Given the description of an element on the screen output the (x, y) to click on. 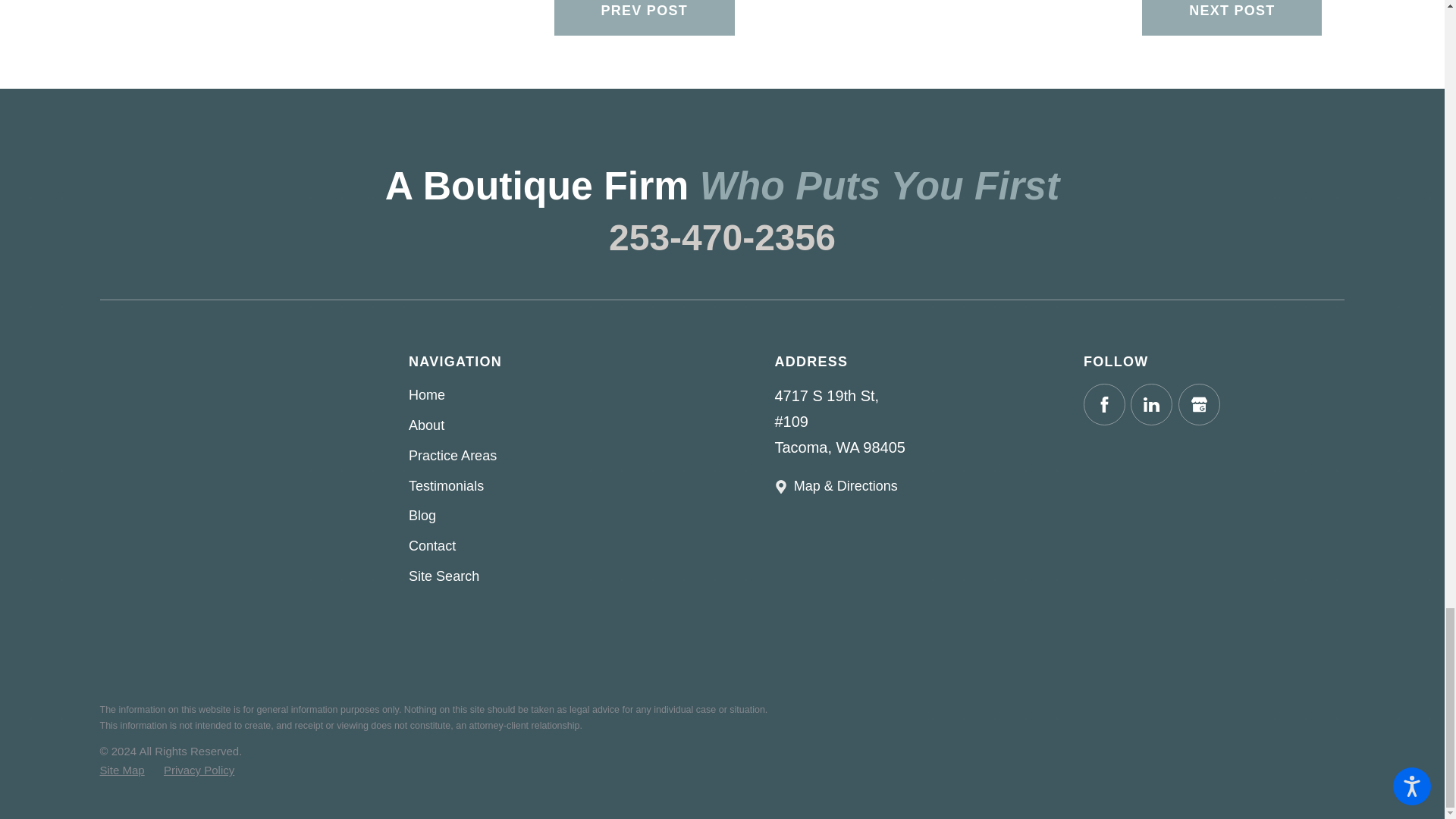
Google Business Profile (1198, 404)
Facebook (1104, 404)
LinkedIn (1151, 404)
